Given the description of an element on the screen output the (x, y) to click on. 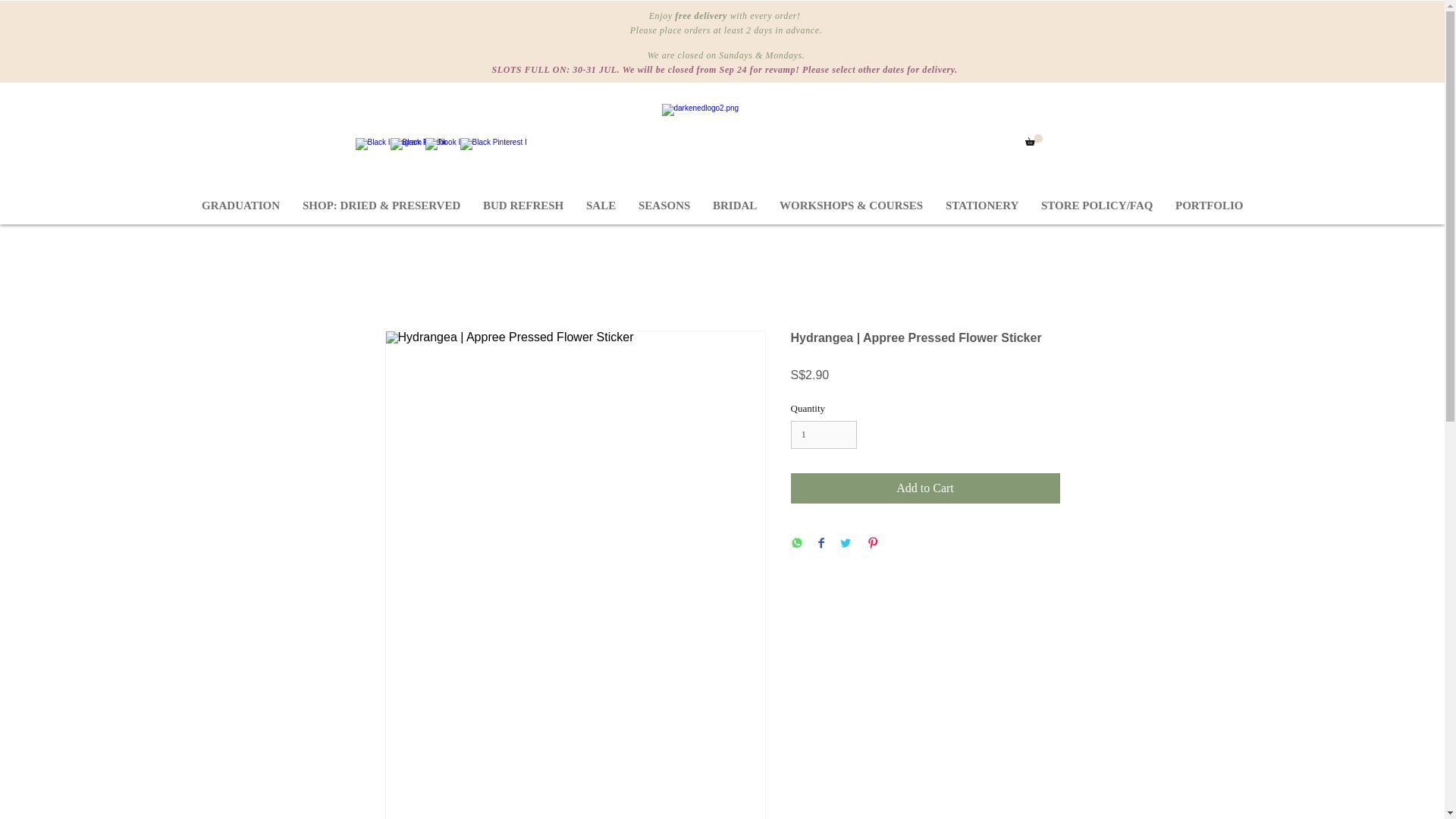
PORTFOLIO (1208, 205)
Add to Cart (924, 488)
1 (823, 434)
BRIDAL (734, 205)
SALE (601, 205)
BUD REFRESH (523, 205)
STATIONERY (981, 205)
GRADUATION (240, 205)
SEASONS (664, 205)
